Given the description of an element on the screen output the (x, y) to click on. 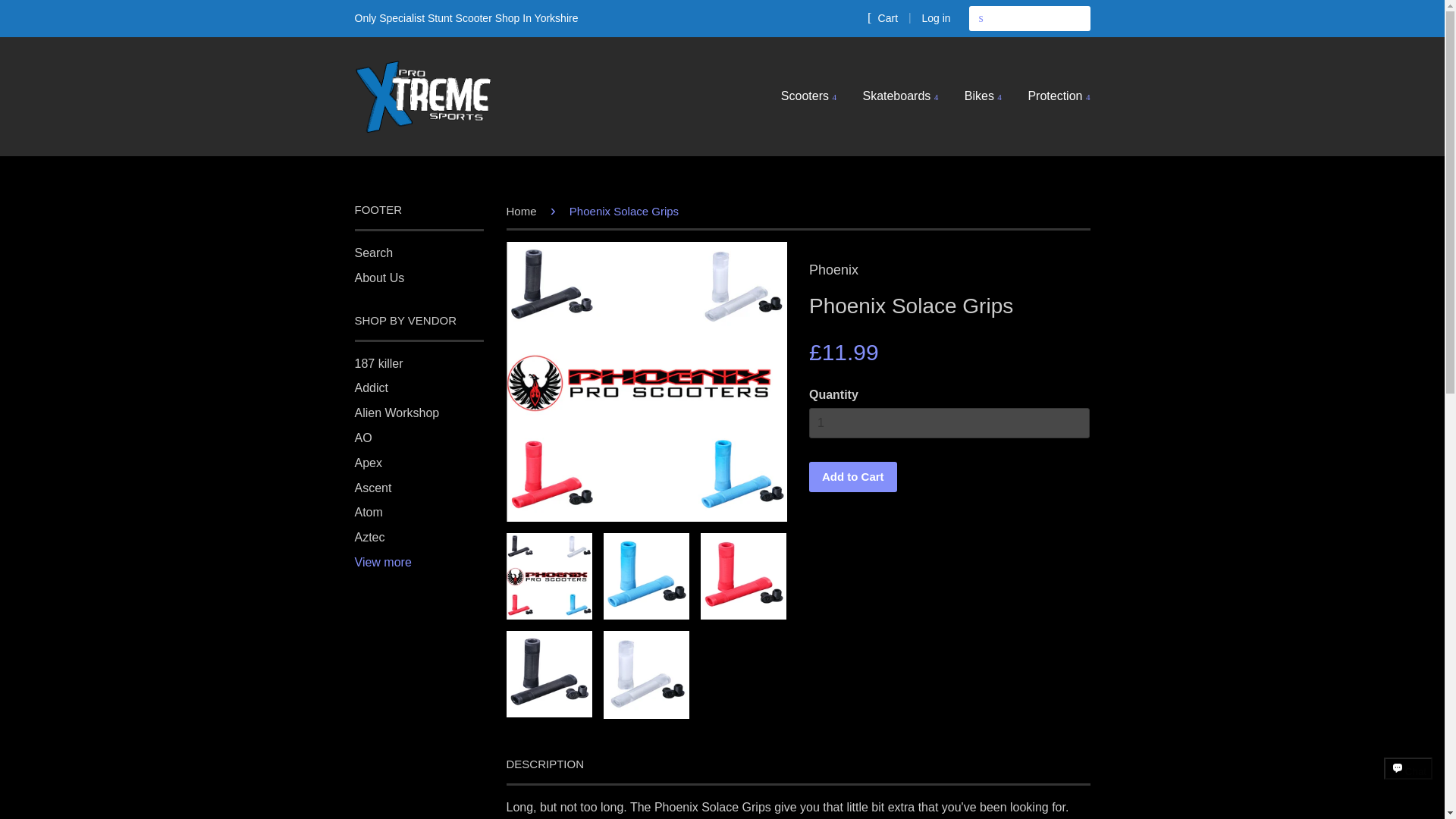
187 killer (379, 363)
Ascent (373, 487)
1 (949, 422)
Alien Workshop (397, 412)
Log in (935, 18)
Atom (368, 512)
Apex (368, 462)
Search (980, 18)
Cart (882, 17)
AO (363, 437)
